Given the description of an element on the screen output the (x, y) to click on. 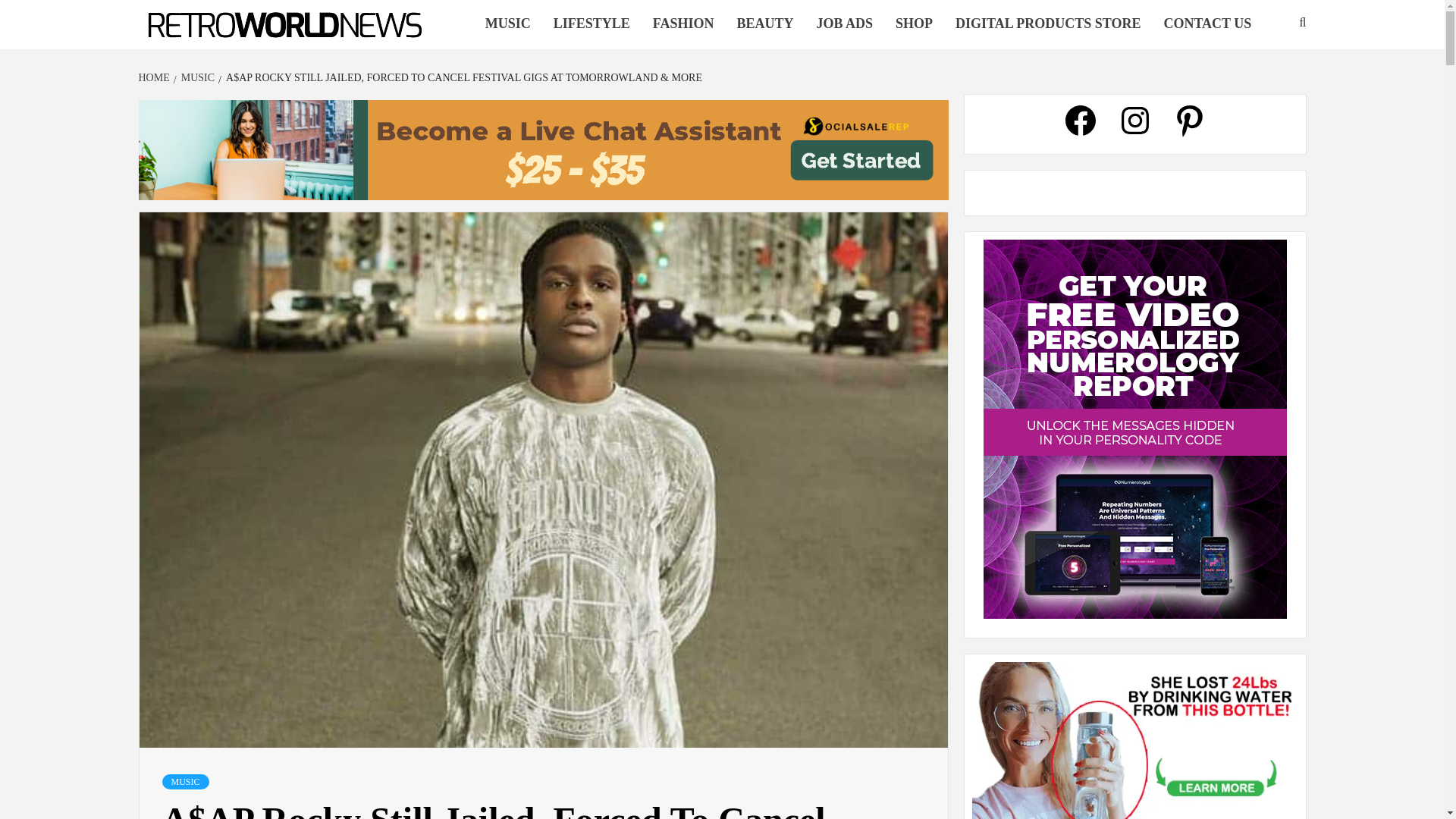
DIGITAL PRODUCTS STORE (1047, 23)
MUSIC (507, 23)
JOB ADS (844, 23)
MUSIC (185, 781)
SHOP (913, 23)
CONTACT US (1206, 23)
FASHION (683, 23)
RETROWORLDNEWS (223, 48)
LIFESTYLE (591, 23)
BEAUTY (765, 23)
HOME (155, 77)
MUSIC (195, 77)
